Given the description of an element on the screen output the (x, y) to click on. 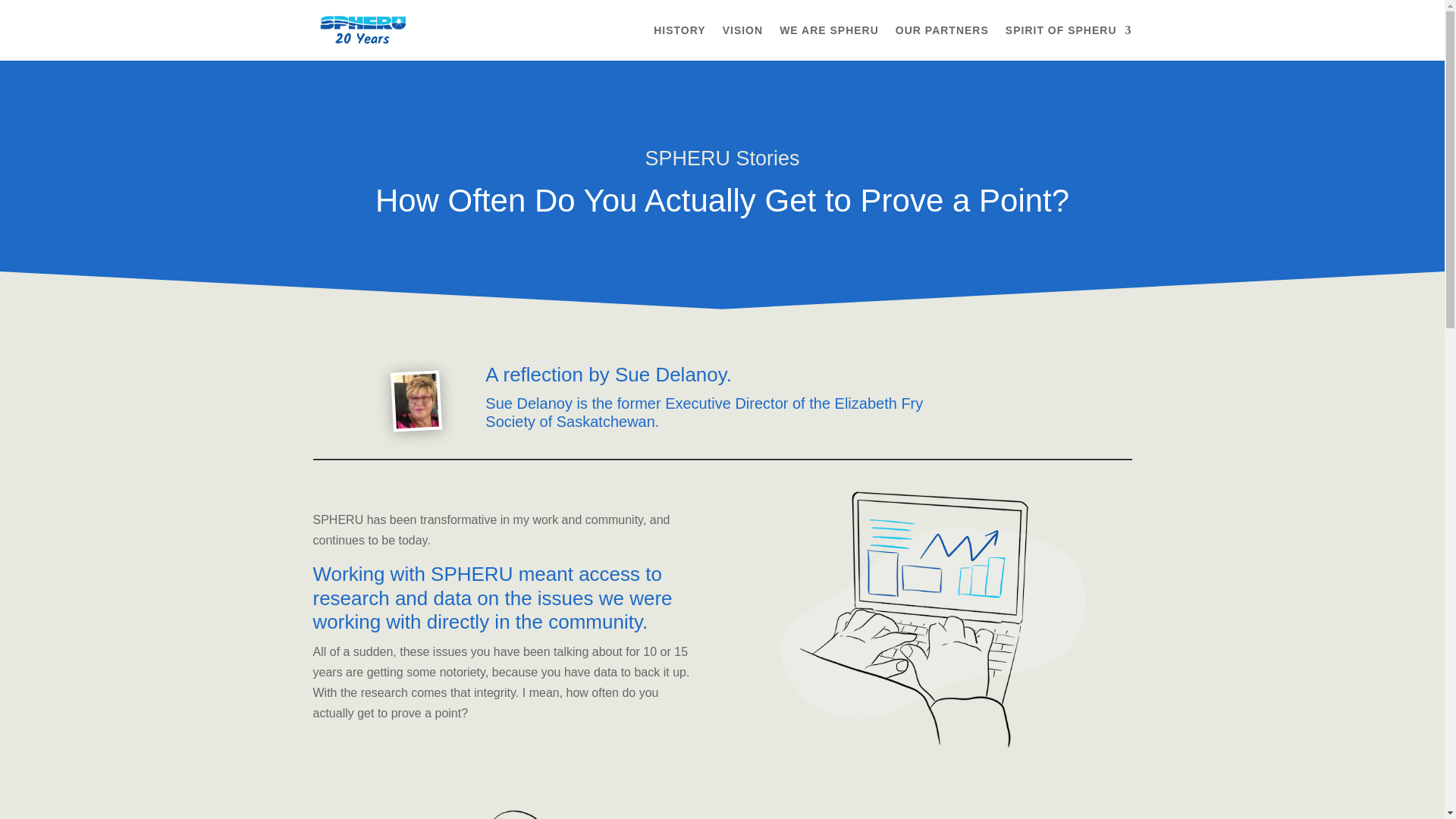
1 (937, 616)
WE ARE SPHERU (828, 42)
VISION (742, 42)
HISTORY (678, 42)
OUR PARTNERS (941, 42)
Second (505, 806)
SPIRIT OF SPHERU (1069, 42)
